Given the description of an element on the screen output the (x, y) to click on. 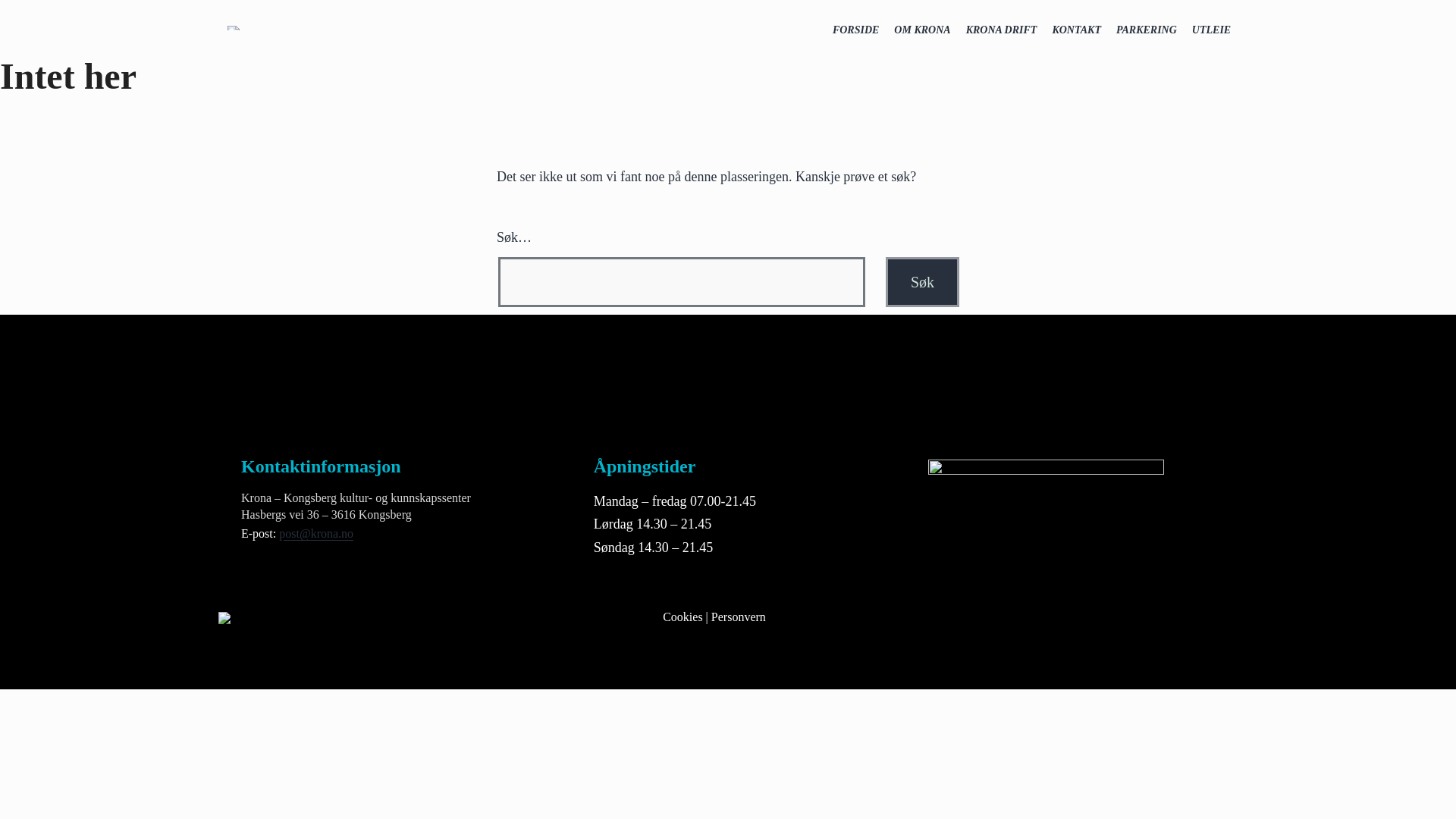
PARKERING (1146, 29)
KRONA DRIFT (1001, 29)
KONTAKT (1075, 29)
Personvern (738, 616)
FORSIDE (855, 29)
UTLEIE (1212, 29)
OM KRONA (922, 29)
